Given the description of an element on the screen output the (x, y) to click on. 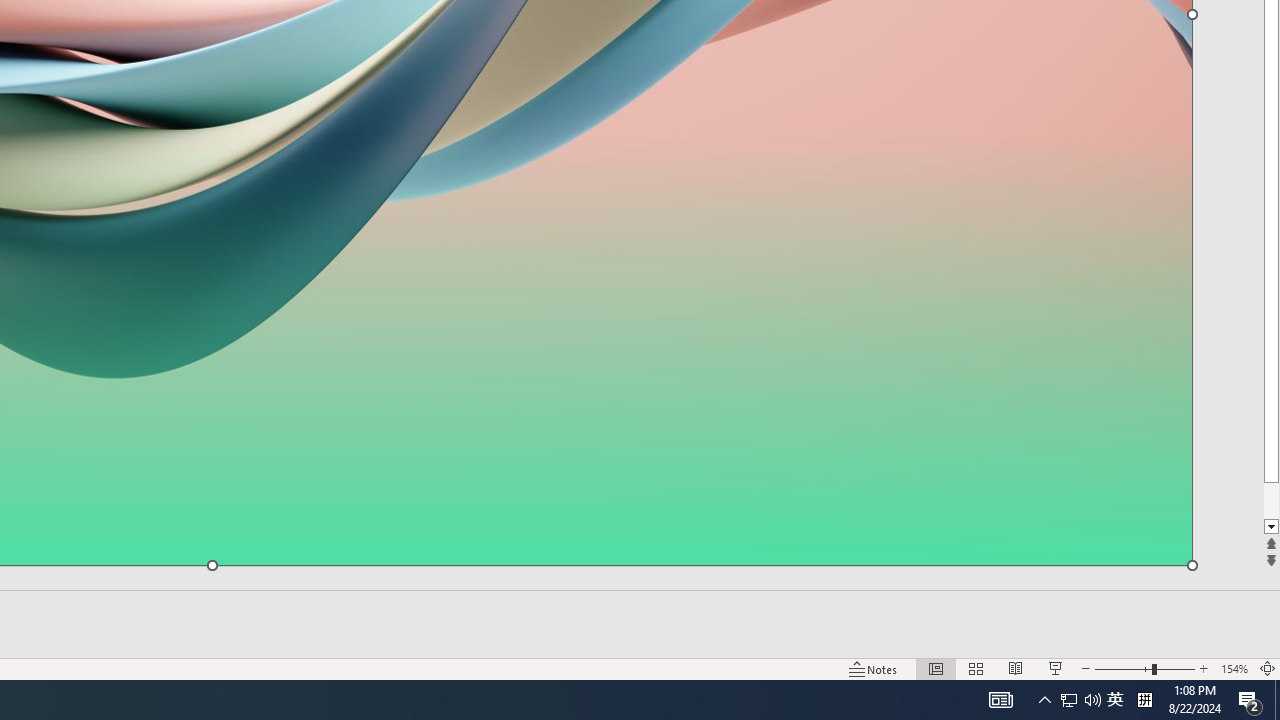
Zoom 154% (1234, 668)
